Given the description of an element on the screen output the (x, y) to click on. 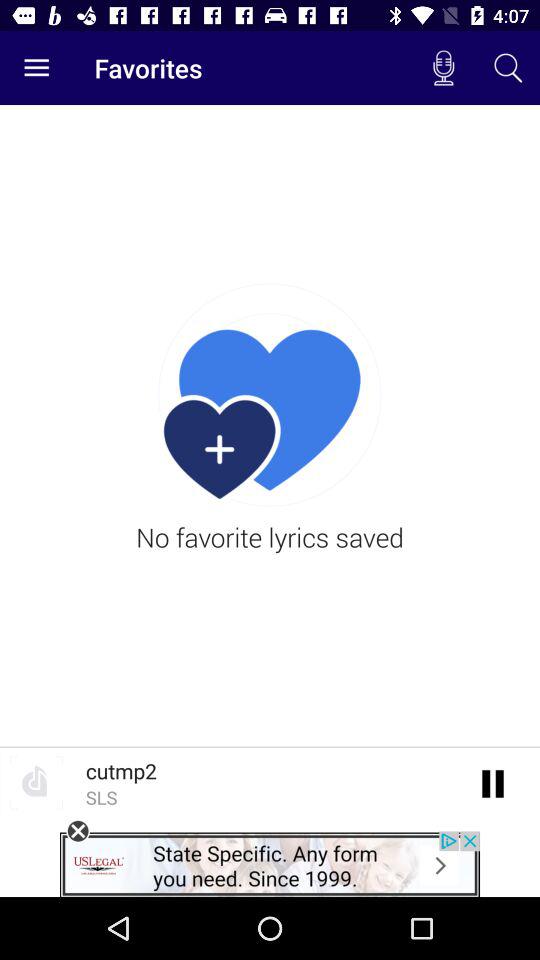
say to add a lyric (493, 782)
